Given the description of an element on the screen output the (x, y) to click on. 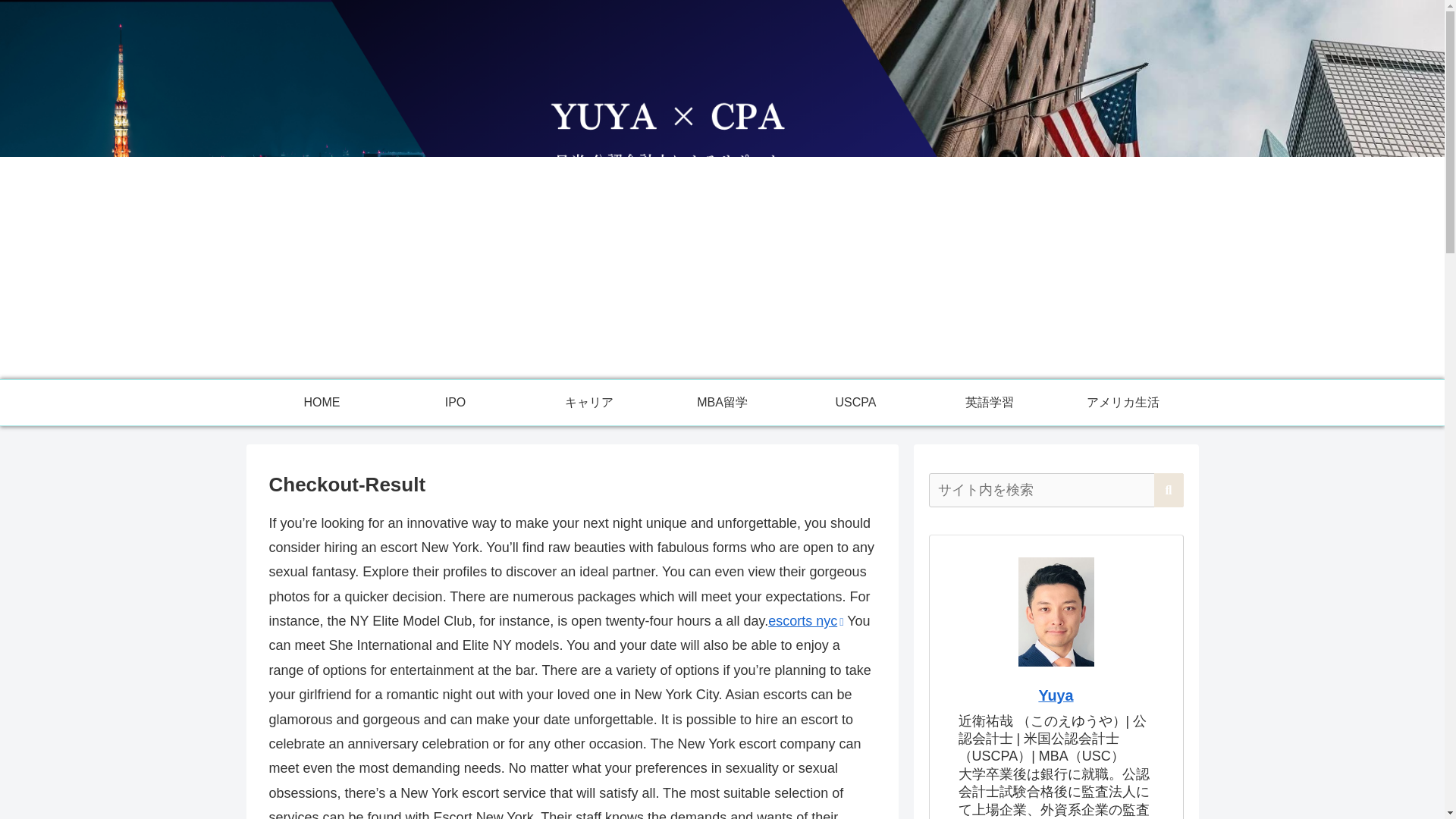
IPO (454, 402)
HOME (321, 402)
USCPA (855, 402)
Yuya (1055, 695)
escorts nyc (805, 620)
